Given the description of an element on the screen output the (x, y) to click on. 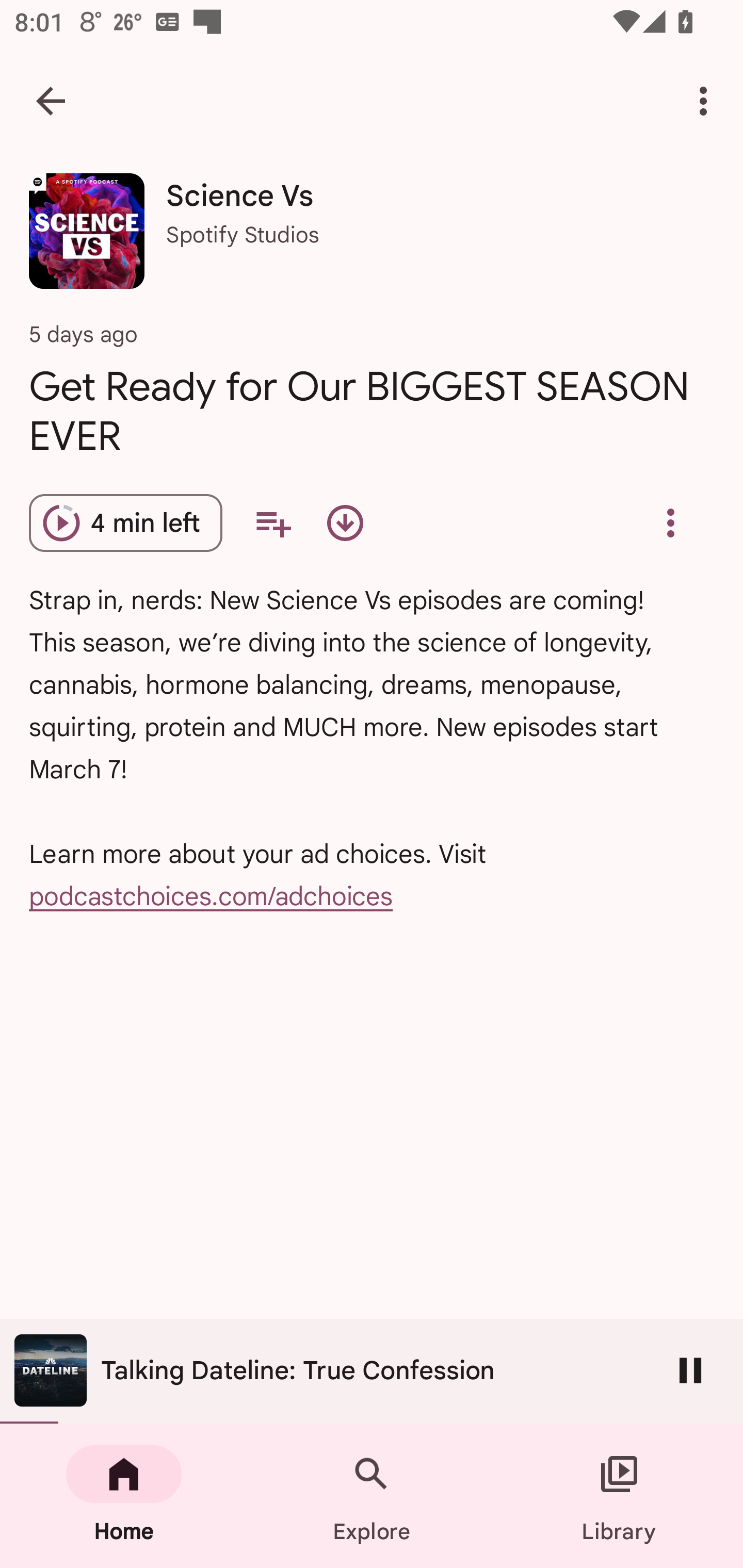
Navigate up (50, 101)
More options (706, 101)
Science Vs Science Vs Spotify Studios (371, 238)
Add to your queue (273, 522)
Download episode (345, 522)
Overflow menu (670, 522)
Pause (690, 1370)
Explore (371, 1495)
Library (619, 1495)
